Given the description of an element on the screen output the (x, y) to click on. 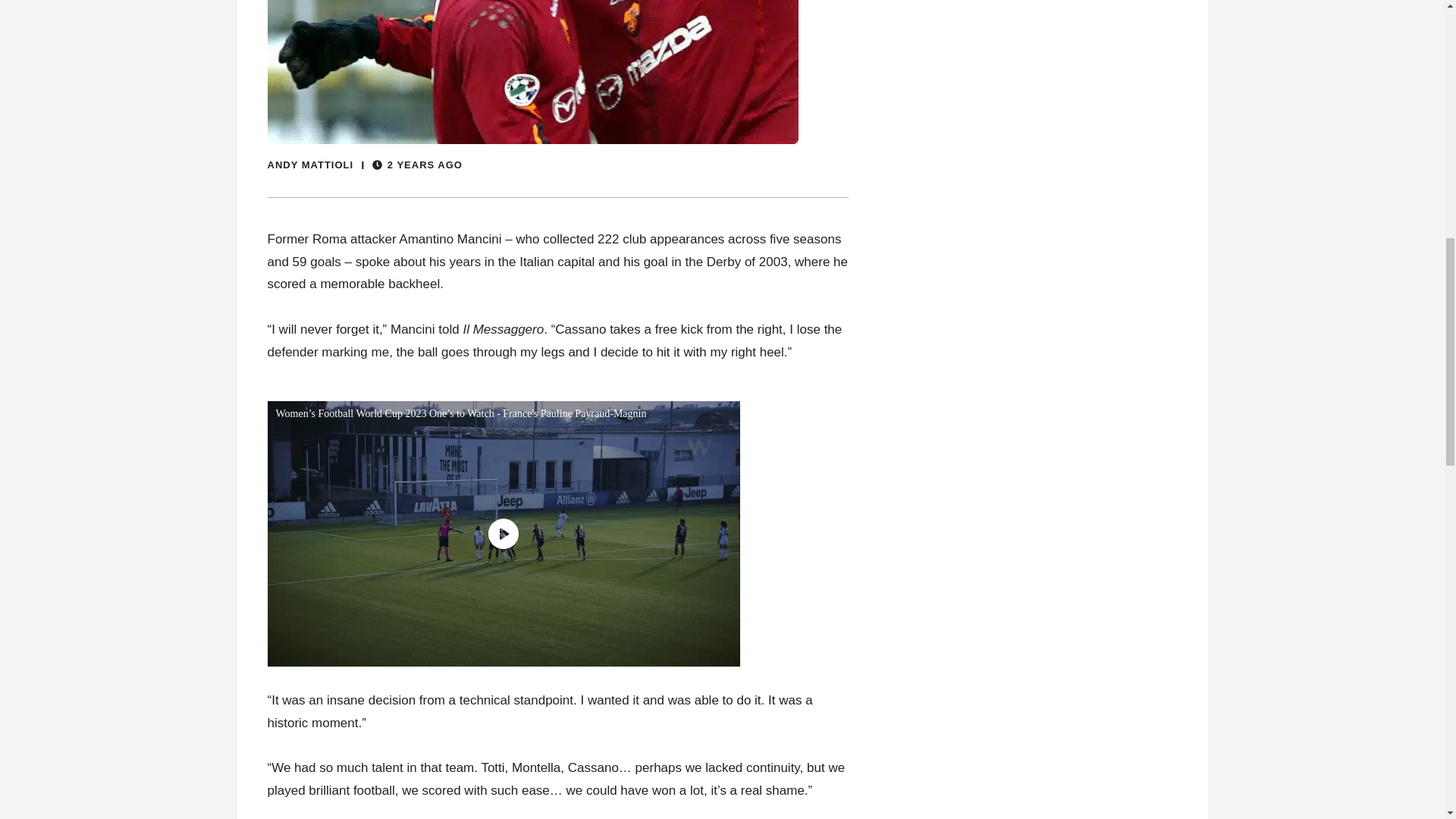
X (1434, 760)
